Given the description of an element on the screen output the (x, y) to click on. 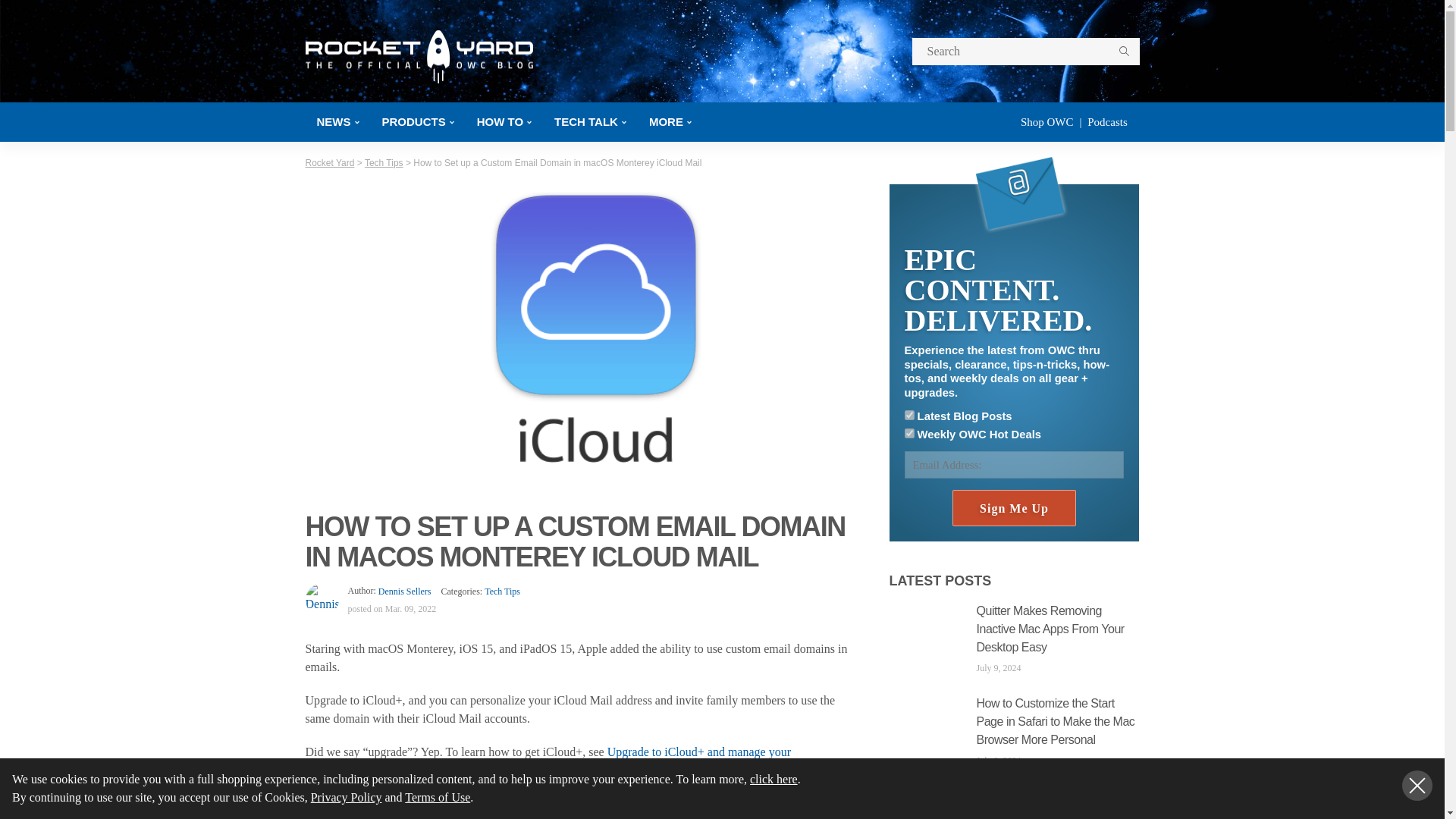
Tech Tips (501, 590)
0bcd03ec00000000000000000000001f995c (909, 415)
Go to the Tech Tips category archives. (384, 163)
Go to Rocket Yard. (328, 163)
Sign Me Up (1013, 507)
NEWS (336, 121)
search for: (1024, 51)
